Given the description of an element on the screen output the (x, y) to click on. 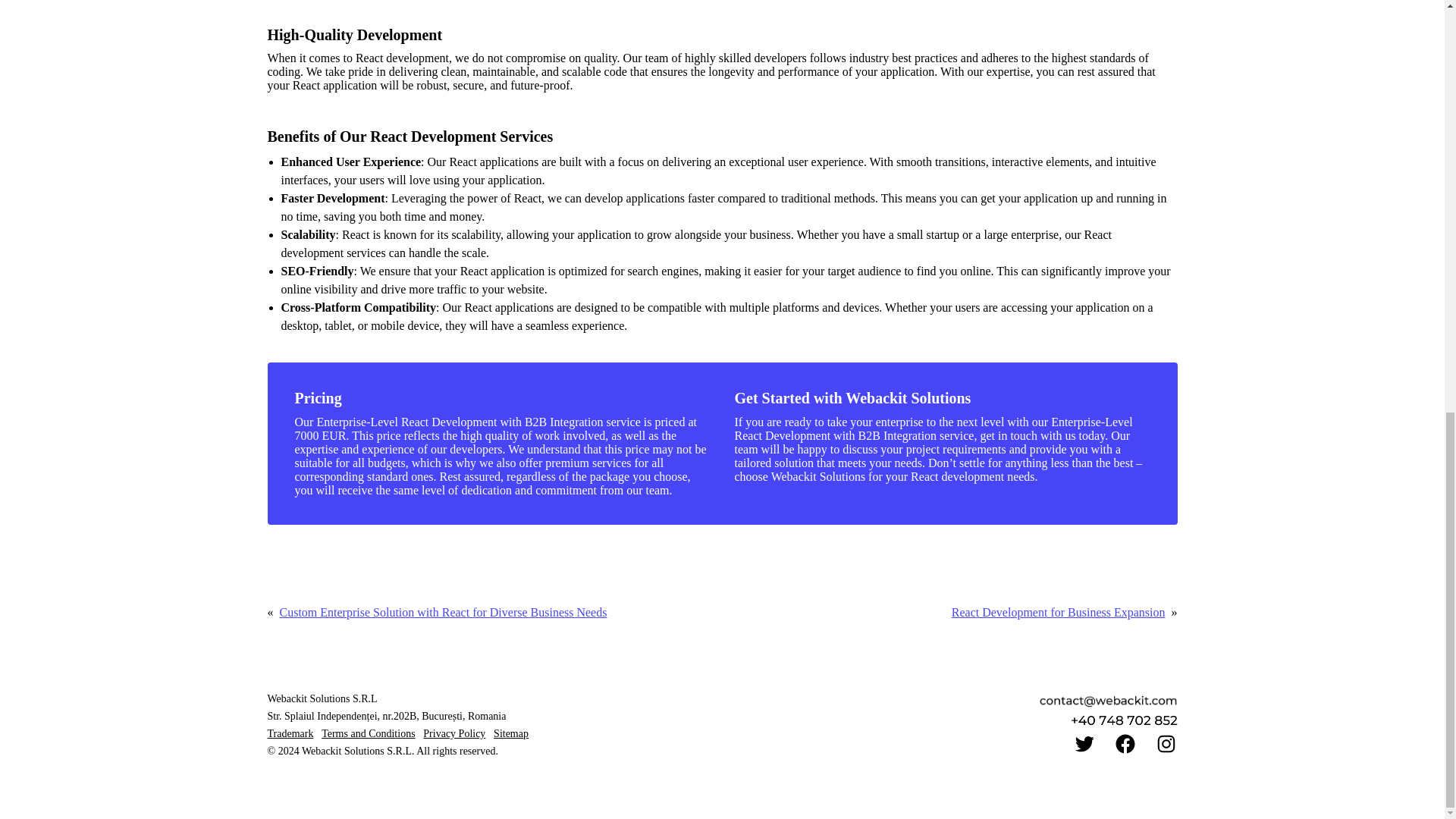
React Development for Business Expansion (1059, 612)
information is secured against bots. (1108, 701)
information is secured against bots. (1123, 719)
